Given the description of an element on the screen output the (x, y) to click on. 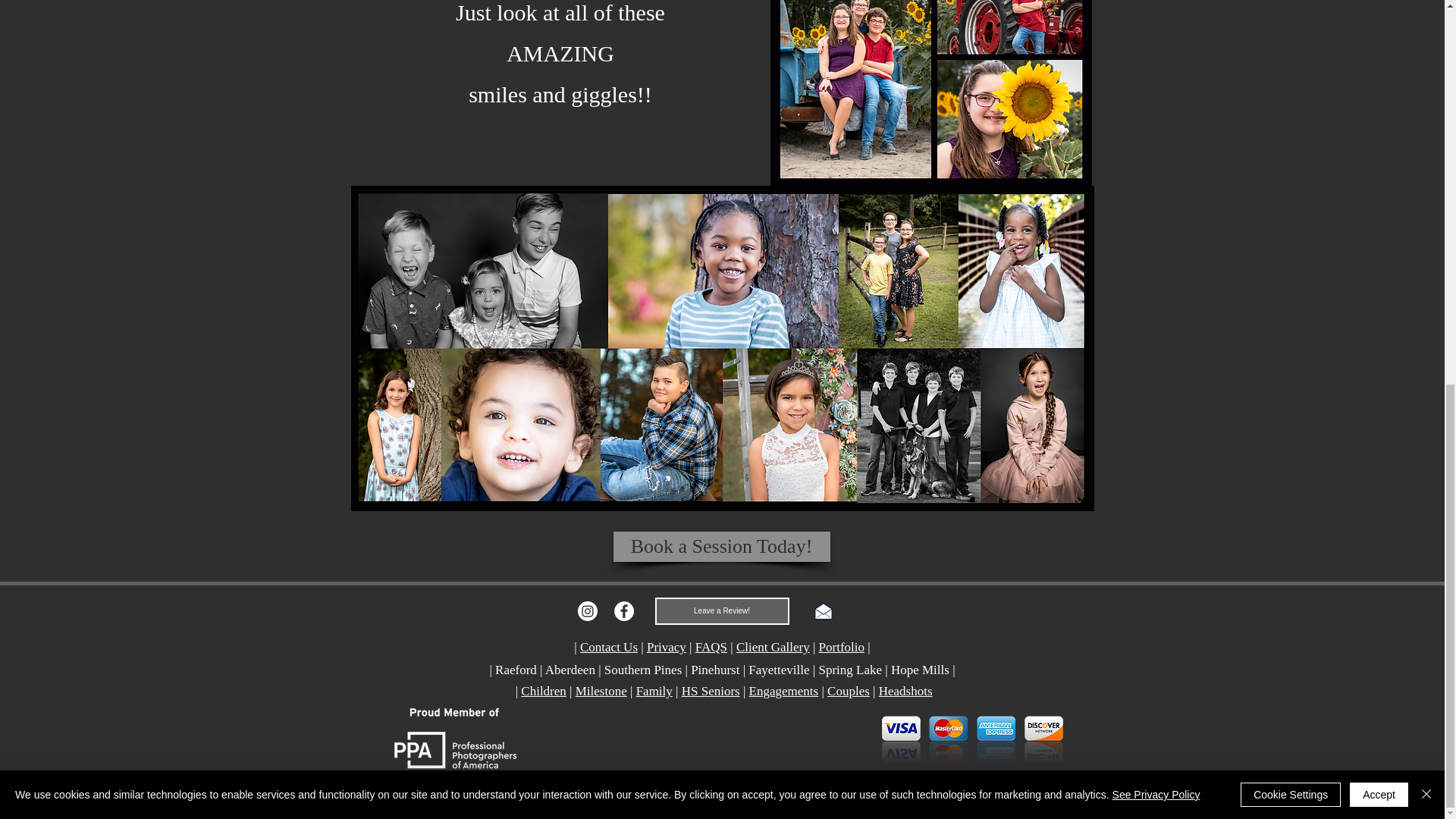
Book a Session Today! (720, 546)
Cookie Settings (1290, 70)
Contact Us (608, 646)
Family (654, 690)
Accept (1378, 70)
Engagements (783, 690)
See Privacy Policy (1155, 70)
FAQS (710, 646)
Couples (848, 690)
Children (543, 690)
Leave a Review! (722, 610)
Privacy (665, 646)
Milestone (601, 690)
Portfolio (841, 646)
HS Seniors (710, 690)
